Given the description of an element on the screen output the (x, y) to click on. 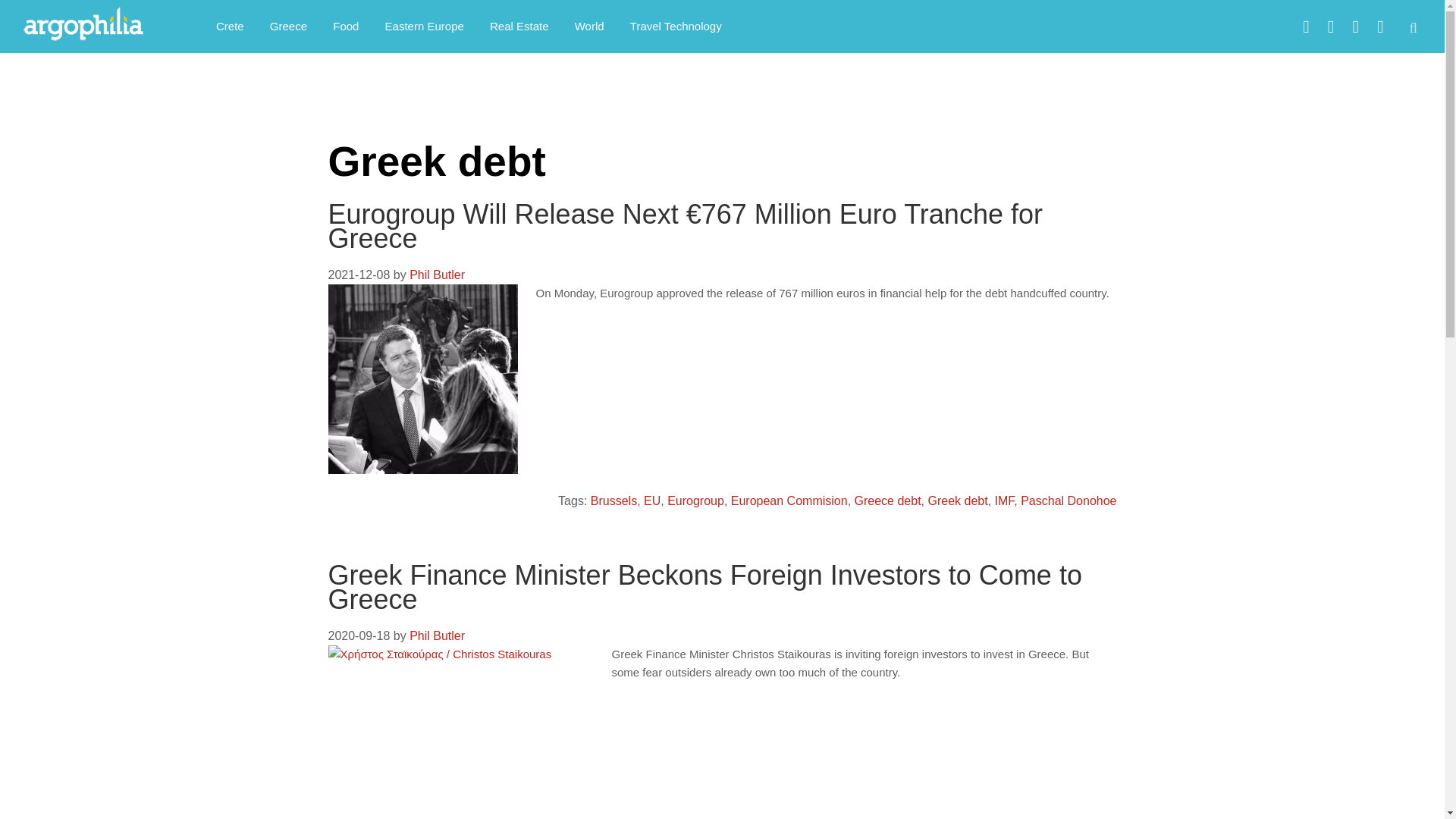
Eurogroup (694, 500)
Lufthansa (1063, 818)
European Commision (788, 500)
Phil Butler (436, 274)
Brussels (614, 500)
EU (652, 500)
Greece (288, 26)
Food (345, 26)
World (589, 26)
Christos Staikouras (555, 818)
Eastern Europe (425, 26)
Phil Butler (436, 635)
ESM (628, 818)
